Given the description of an element on the screen output the (x, y) to click on. 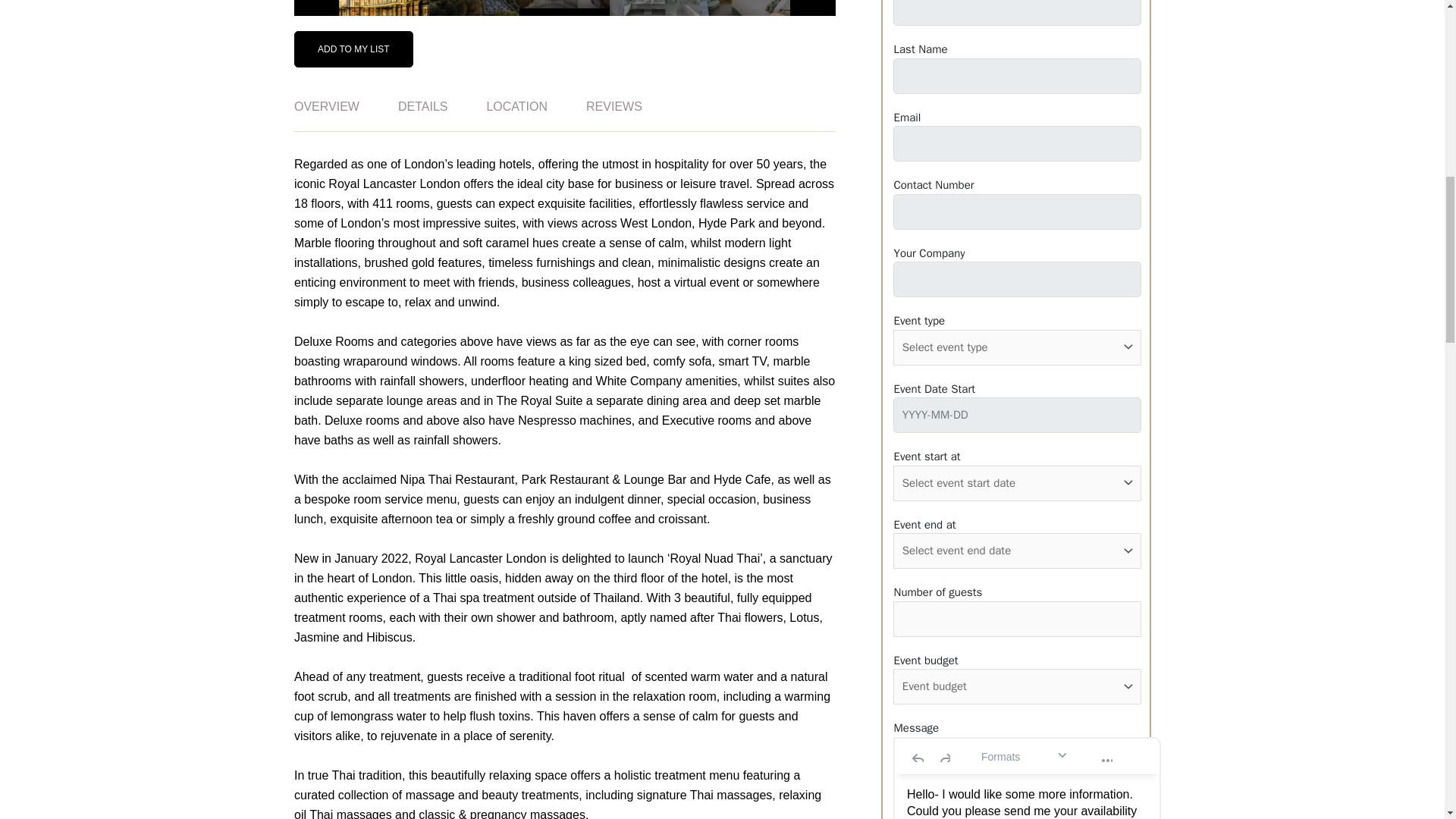
Rich Text Area (1025, 796)
history (929, 755)
styles (1024, 755)
